Given the description of an element on the screen output the (x, y) to click on. 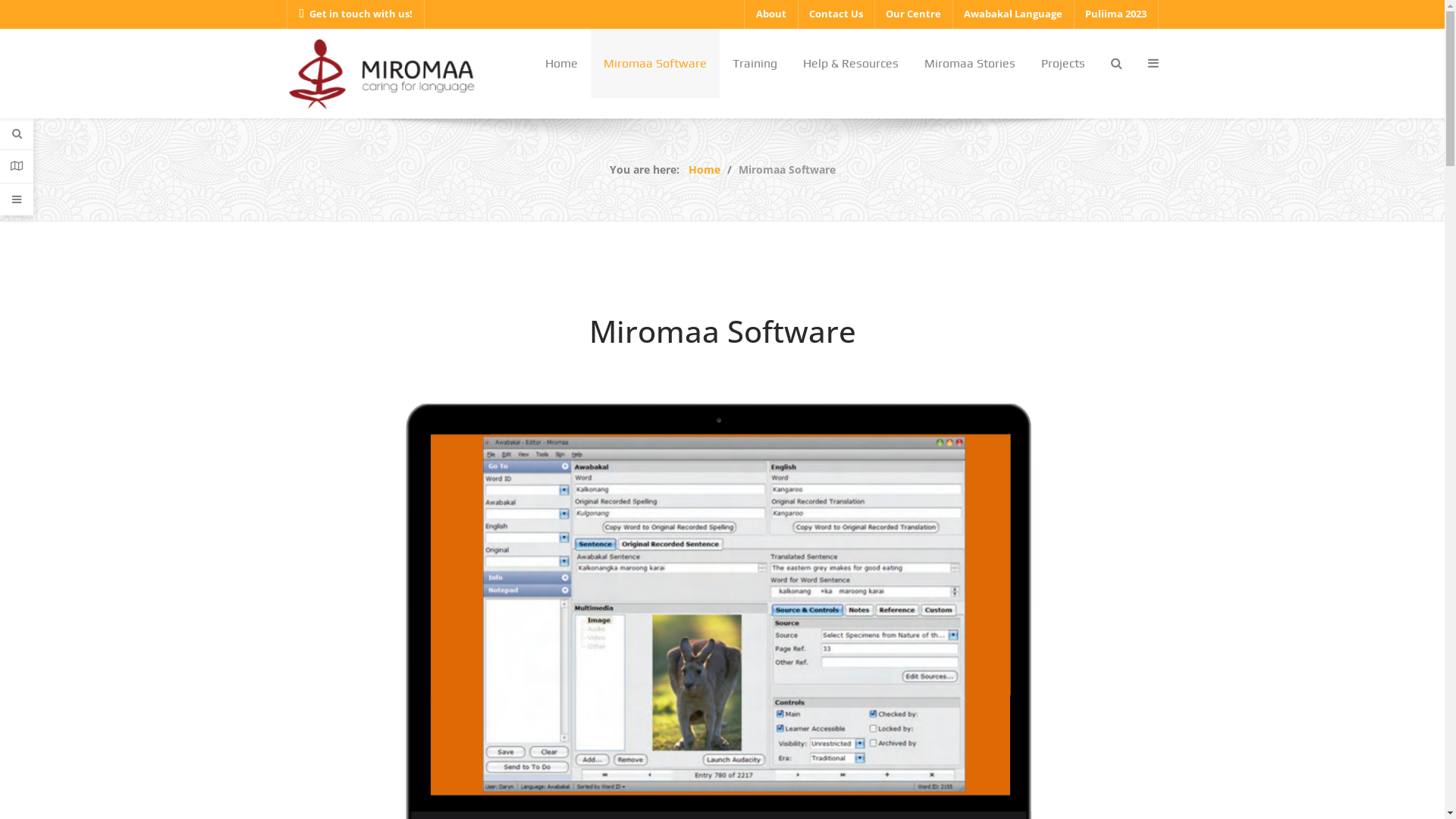
Home Element type: text (561, 62)
The richness of Aboriginal... Element type: text (591, 678)
Help & Resources Element type: text (1063, 632)
Protocols & Privacy Element type: text (1063, 654)
Vimeo Element type: hover (1111, 782)
Projects Element type: text (1063, 62)
Language conservation... Element type: text (583, 655)
Contact Us Element type: text (835, 14)
Miromaa Software Element type: text (1063, 588)
#WhyIMap: Language... Element type: text (579, 610)
Training Element type: text (753, 62)
Contact Us Element type: text (1063, 676)
Contacts Element type: hover (16, 166)
Miromaa - Caring for Language Element type: hover (381, 72)
Miromaa Stories Element type: text (969, 62)
Facebook Element type: hover (1044, 782)
On Saving First Languages Element type: text (586, 543)
Support Element type: hover (16, 199)
Search Element type: hover (16, 133)
An Australian indigenous... Element type: text (588, 633)
Puliima 2023 Element type: text (1115, 14)
Twitter Element type: hover (1077, 782)
Our Centre Element type: text (912, 14)
Voices of Resilience -... Element type: text (577, 588)
Training Element type: text (1063, 610)
About us Element type: text (1063, 566)
YouTube Element type: hover (1144, 782)
Get in touch with us! Element type: text (355, 14)
Re-indigeni(z)ing Ecology Element type: text (583, 565)
Subscribe Element type: text (778, 663)
How we can help Element type: text (1063, 543)
Home Element type: text (704, 169)
Miromaa Software Element type: text (653, 62)
Awabakal Language Element type: text (1012, 14)
